Given the description of an element on the screen output the (x, y) to click on. 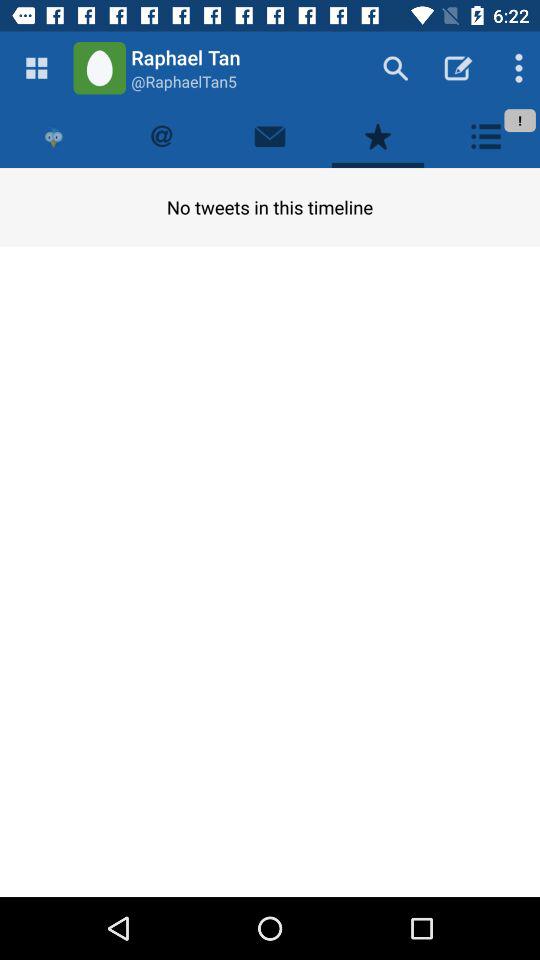
like the new select the star mark the star symbol for likes (378, 136)
